Given the description of an element on the screen output the (x, y) to click on. 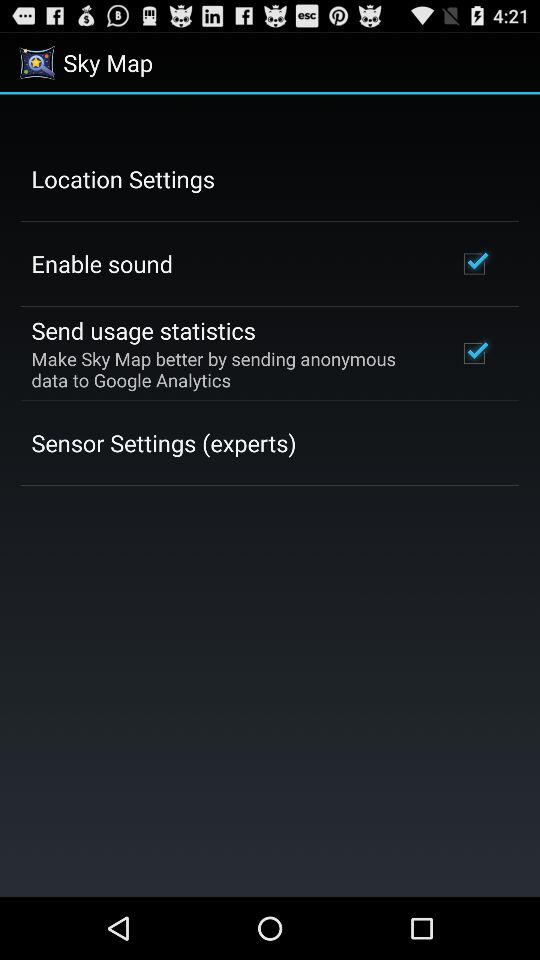
setting page (270, 495)
